Given the description of an element on the screen output the (x, y) to click on. 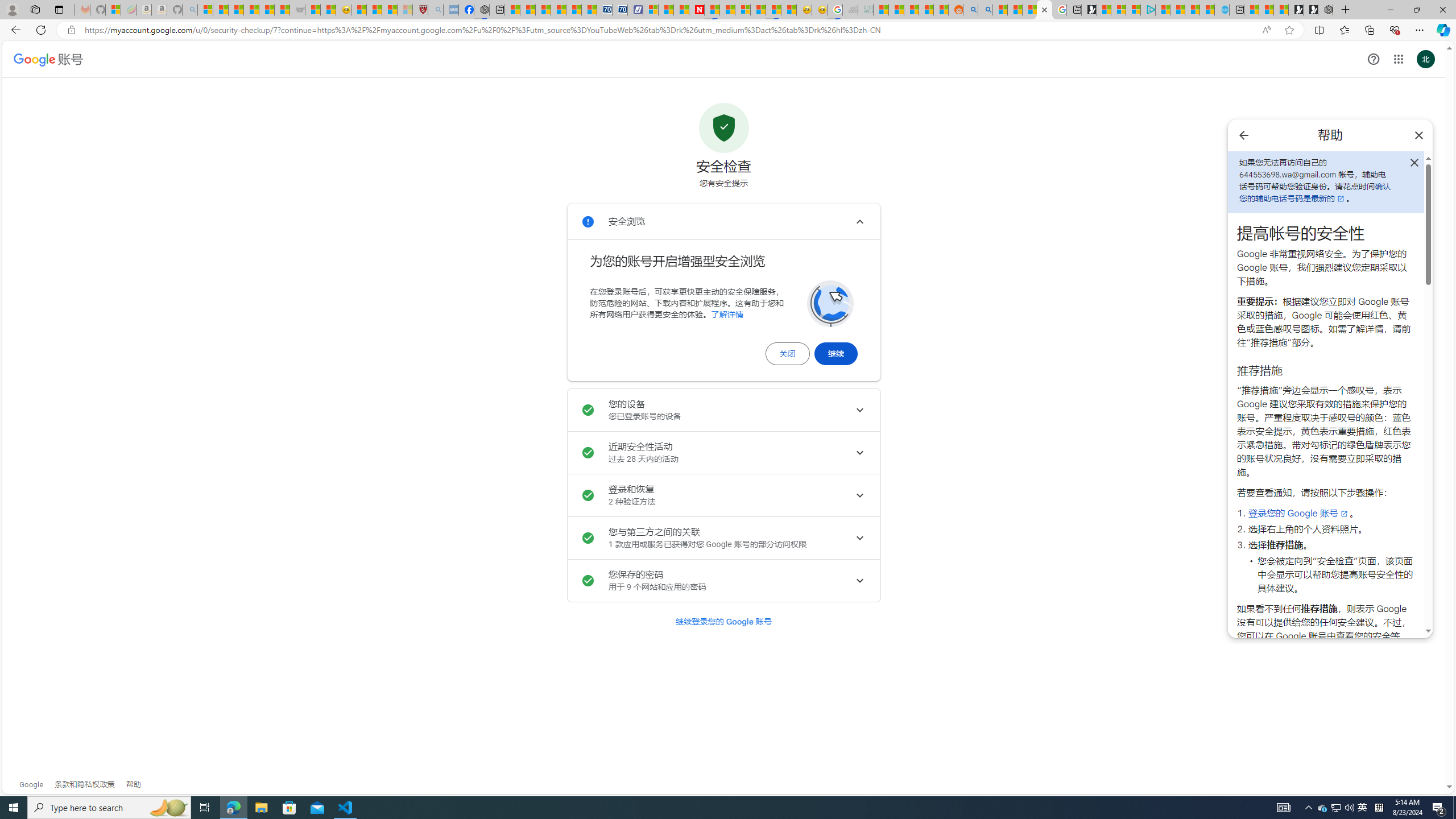
14 Common Myths Debunked By Scientific Facts (726, 9)
New Report Confirms 2023 Was Record Hot | Watch (266, 9)
